Given the description of an element on the screen output the (x, y) to click on. 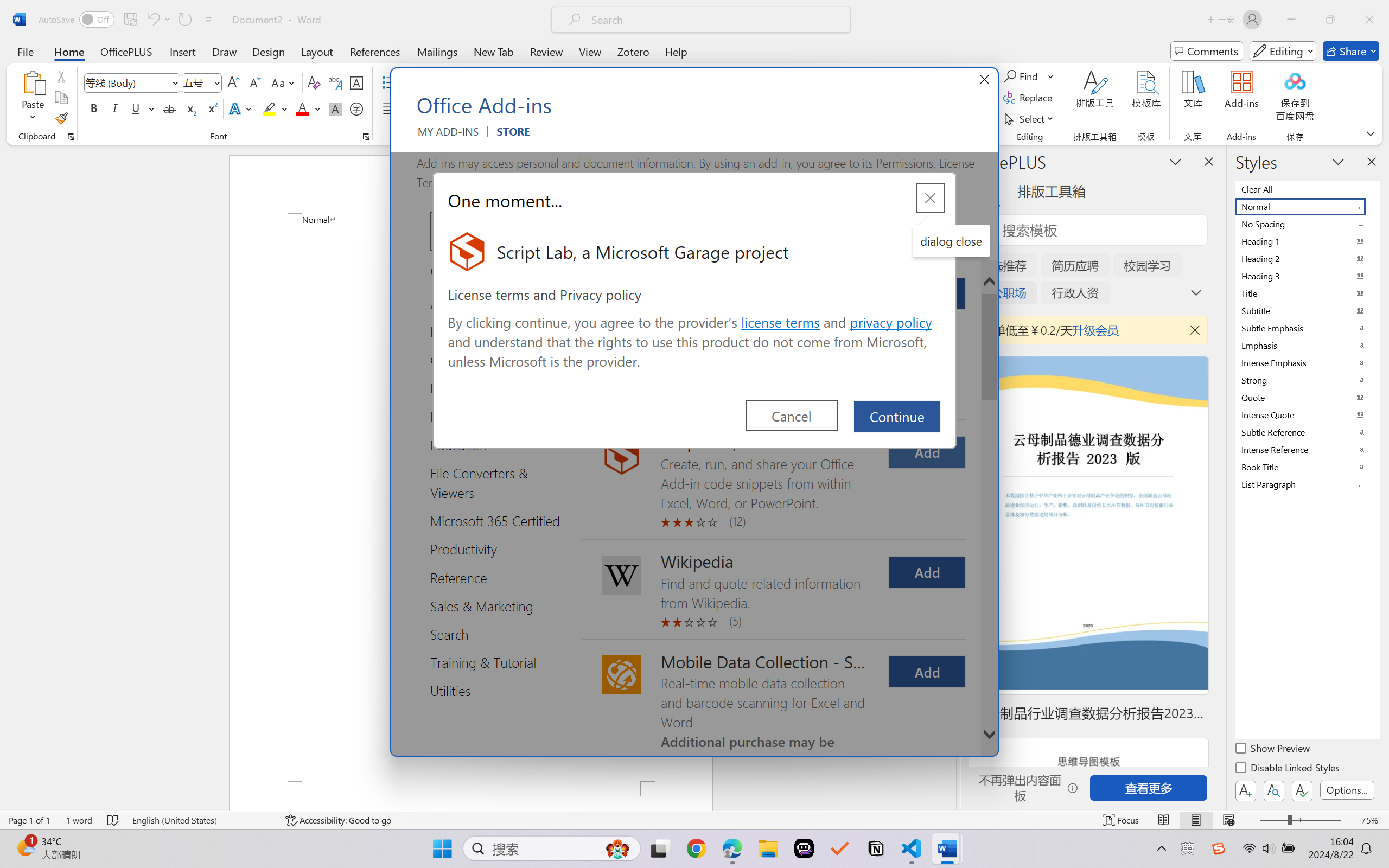
Strikethrough (169, 108)
Font (126, 82)
Intense Emphasis (1306, 362)
Google Chrome (696, 848)
Book Title (1306, 466)
Accessibility Checker Accessibility: Good to go (338, 819)
Subscript (190, 108)
Ribbon Display Options (1370, 132)
AutomationID: BadgeAnchorLargeTicker (24, 847)
Subtitle (1306, 310)
Undo Apply Quick Style (158, 19)
Paste (33, 81)
Cut (60, 75)
